Given the description of an element on the screen output the (x, y) to click on. 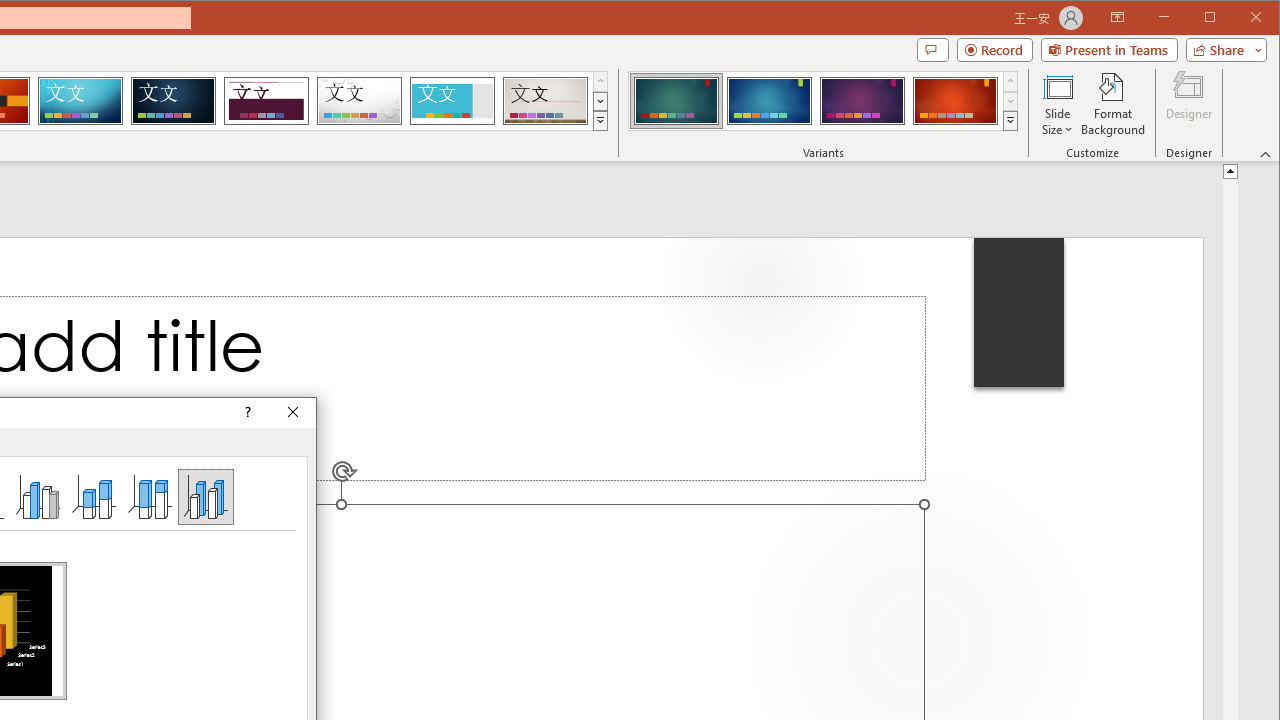
Ion Variant 3 (862, 100)
